Given the description of an element on the screen output the (x, y) to click on. 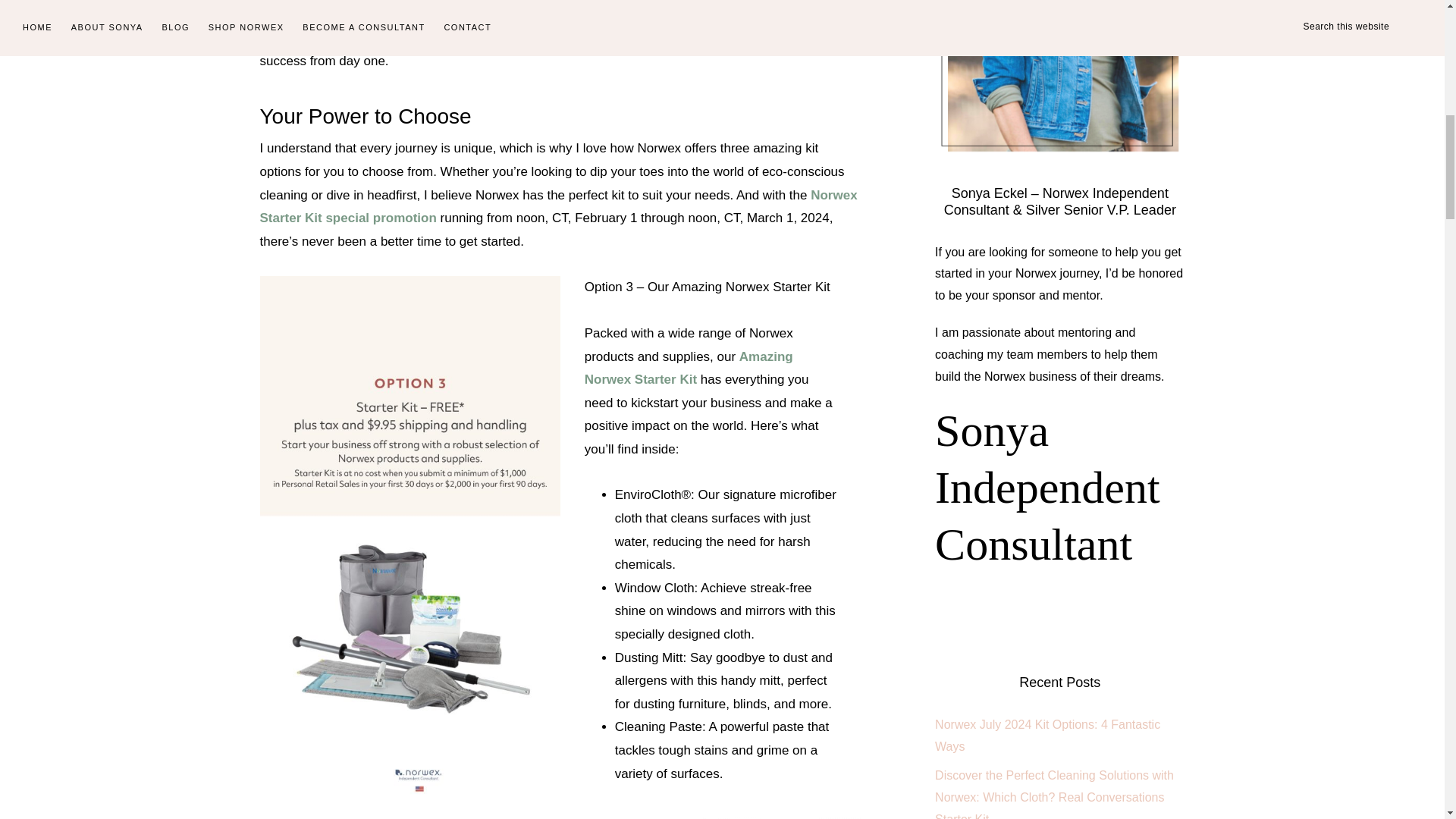
Hey! It's nice to meet you! (1059, 77)
